Given the description of an element on the screen output the (x, y) to click on. 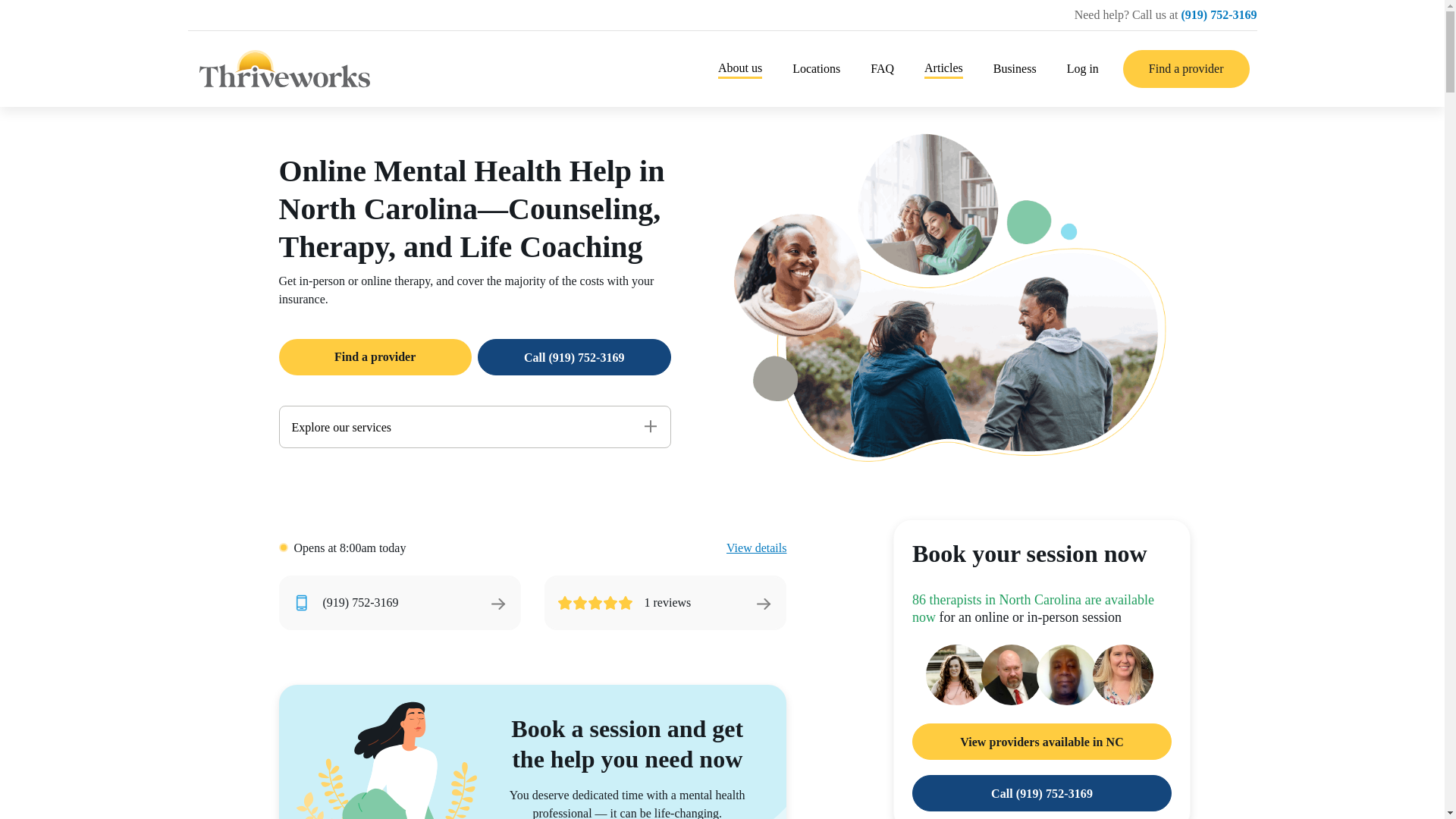
Log in (1082, 67)
About us (739, 68)
About us (739, 68)
Articles (943, 68)
Locations (815, 67)
Find a provider (1185, 68)
Articles (943, 68)
FAQ (882, 67)
Locations (815, 67)
Business (1014, 67)
FAQ (882, 67)
